Given the description of an element on the screen output the (x, y) to click on. 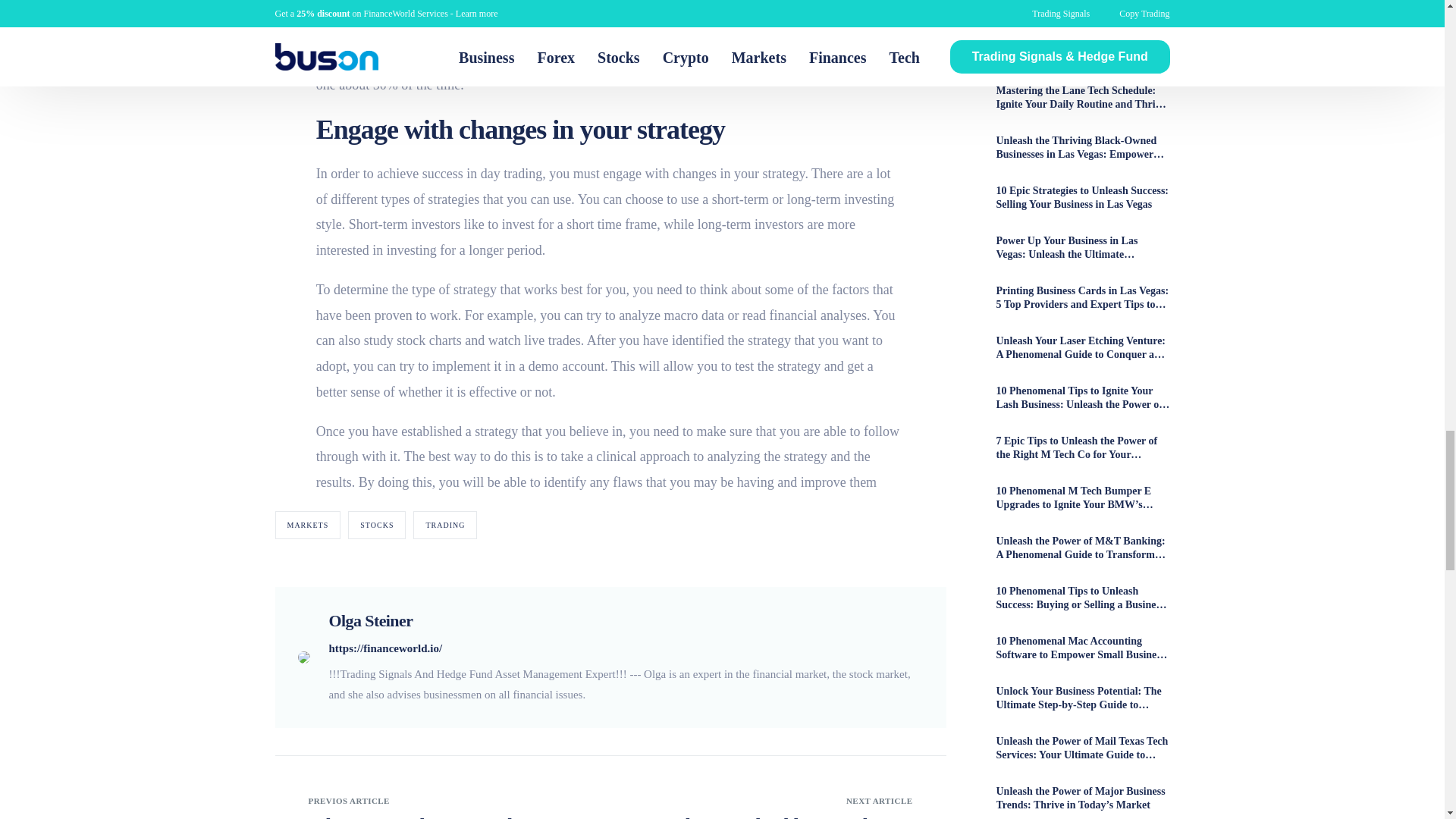
STOCKS (376, 524)
What You Need to Know About Vanguard Stock Trading Fees (441, 816)
Olga Steiner (371, 619)
Posts by Olga Steiner (371, 619)
TRADING (445, 524)
MARKETS (307, 524)
